Given the description of an element on the screen output the (x, y) to click on. 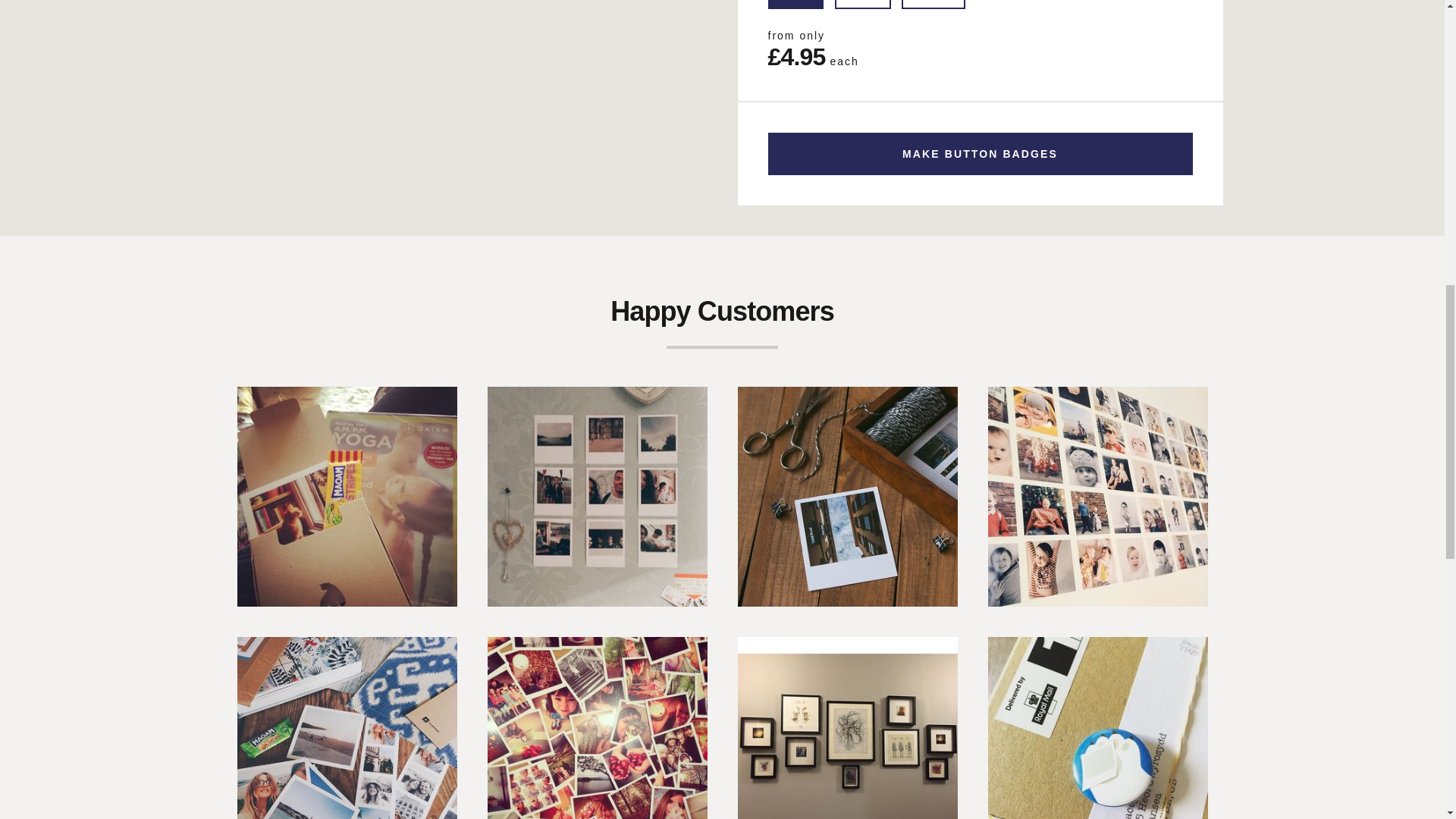
MAKE BUTTON BADGES (979, 153)
